Given the description of an element on the screen output the (x, y) to click on. 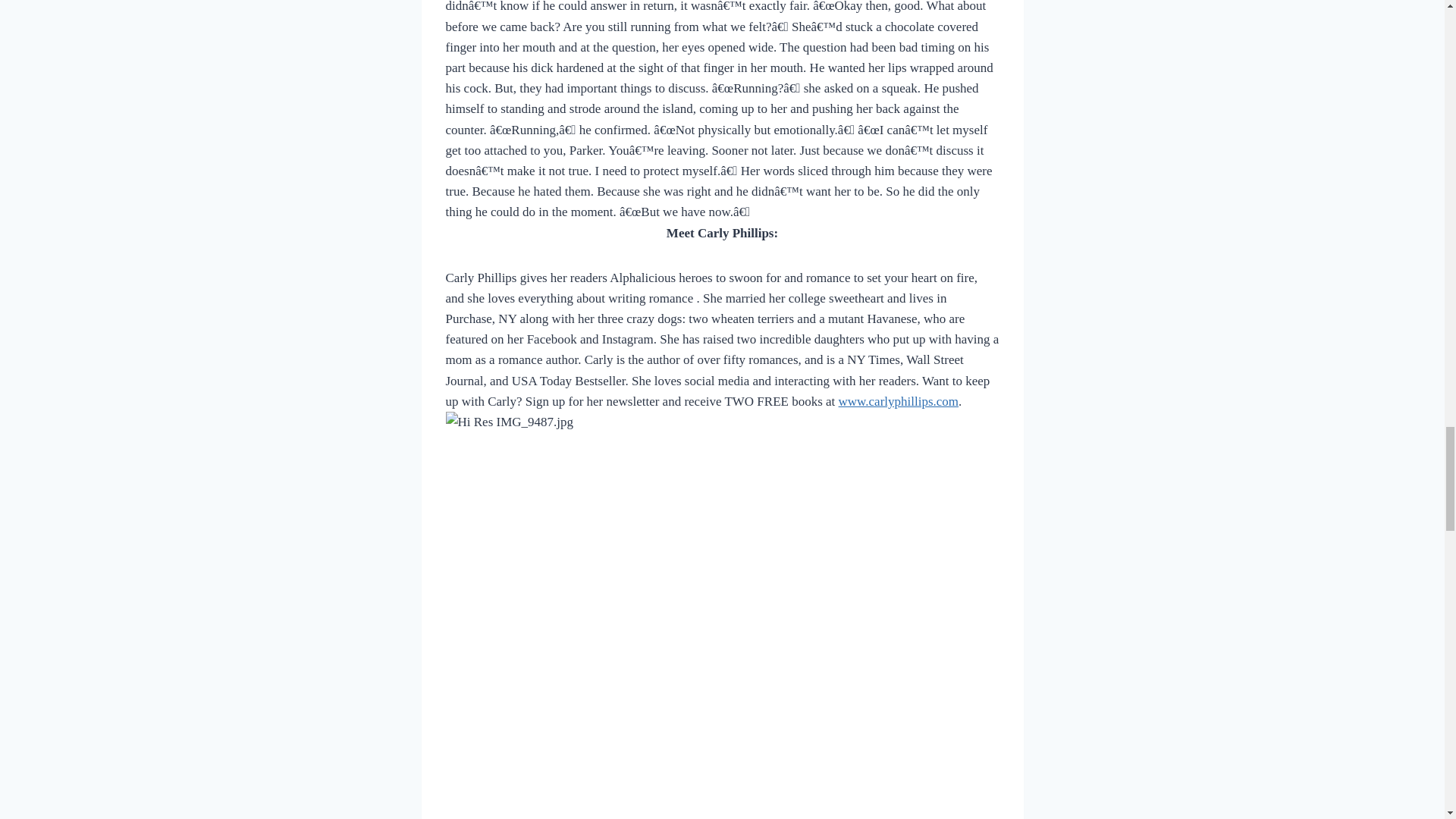
www.carlyphillips.com (898, 400)
